Given the description of an element on the screen output the (x, y) to click on. 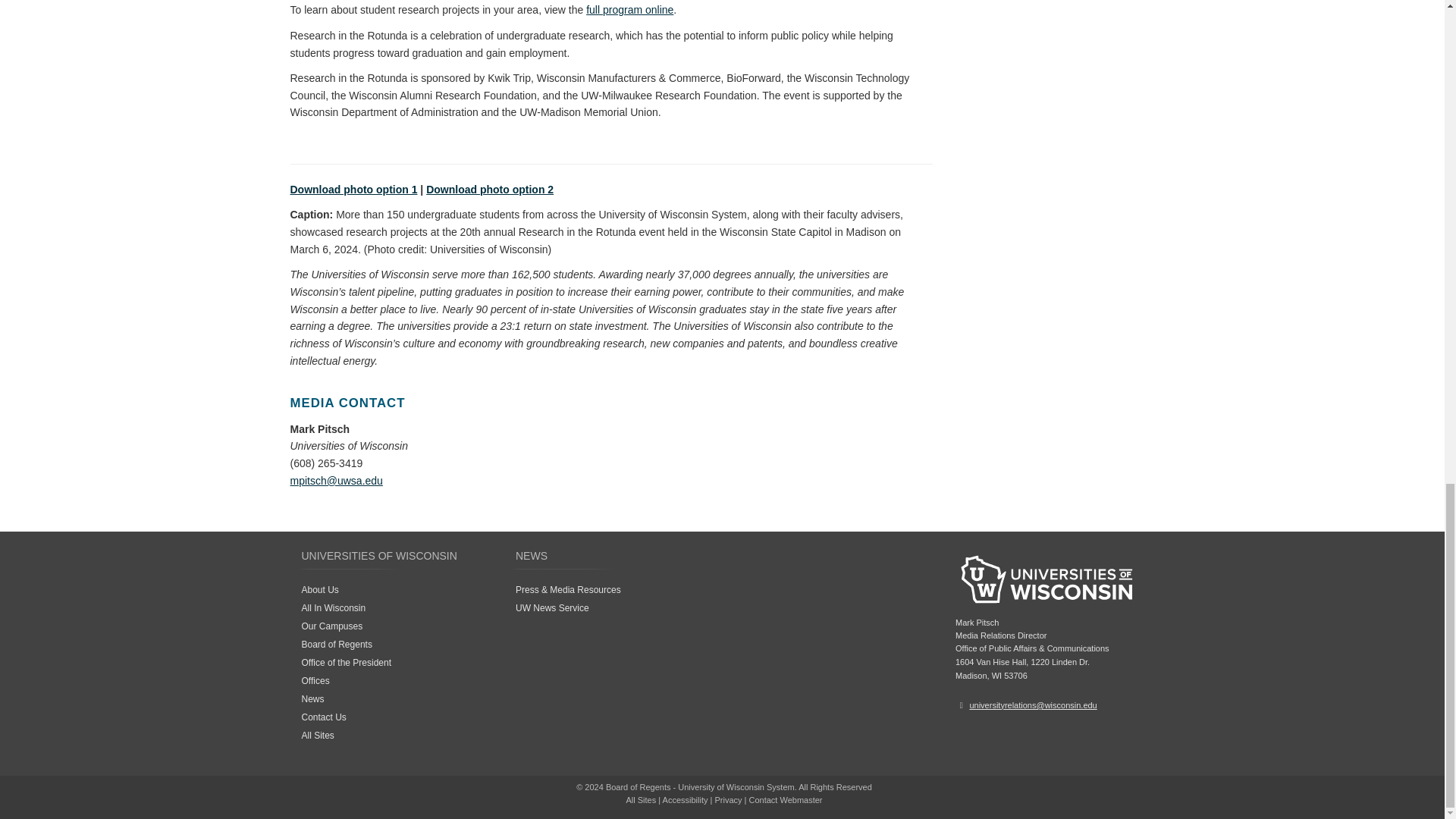
Download photo option 2 (489, 189)
full program online (629, 9)
Download photo option 1 (352, 189)
University of Wisconsin News Service (552, 607)
